Given the description of an element on the screen output the (x, y) to click on. 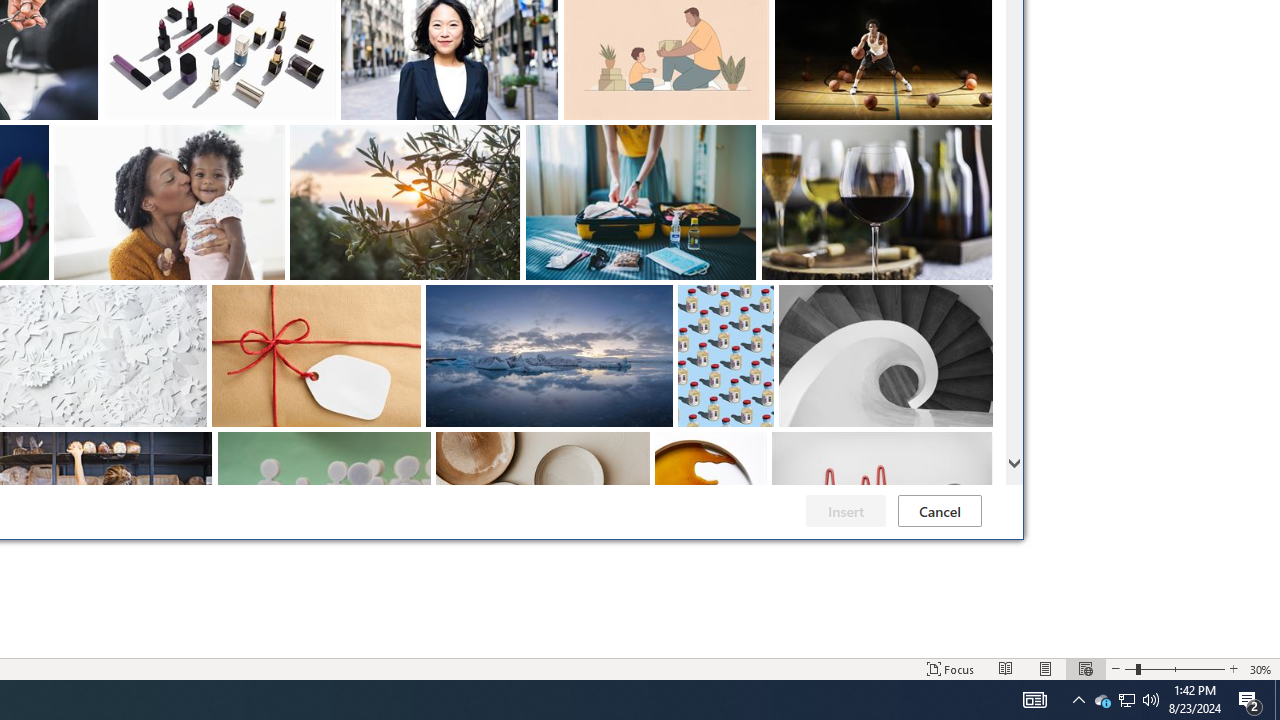
Notification Chevron (1078, 699)
Show desktop (1277, 699)
Zoom In (1233, 668)
Q2790: 100% (1126, 699)
Zoom Out (1151, 699)
Action Center, 2 new notifications (1130, 668)
Focus  (1250, 699)
Cancel (951, 668)
User Promoted Notification Area (939, 511)
